Given the description of an element on the screen output the (x, y) to click on. 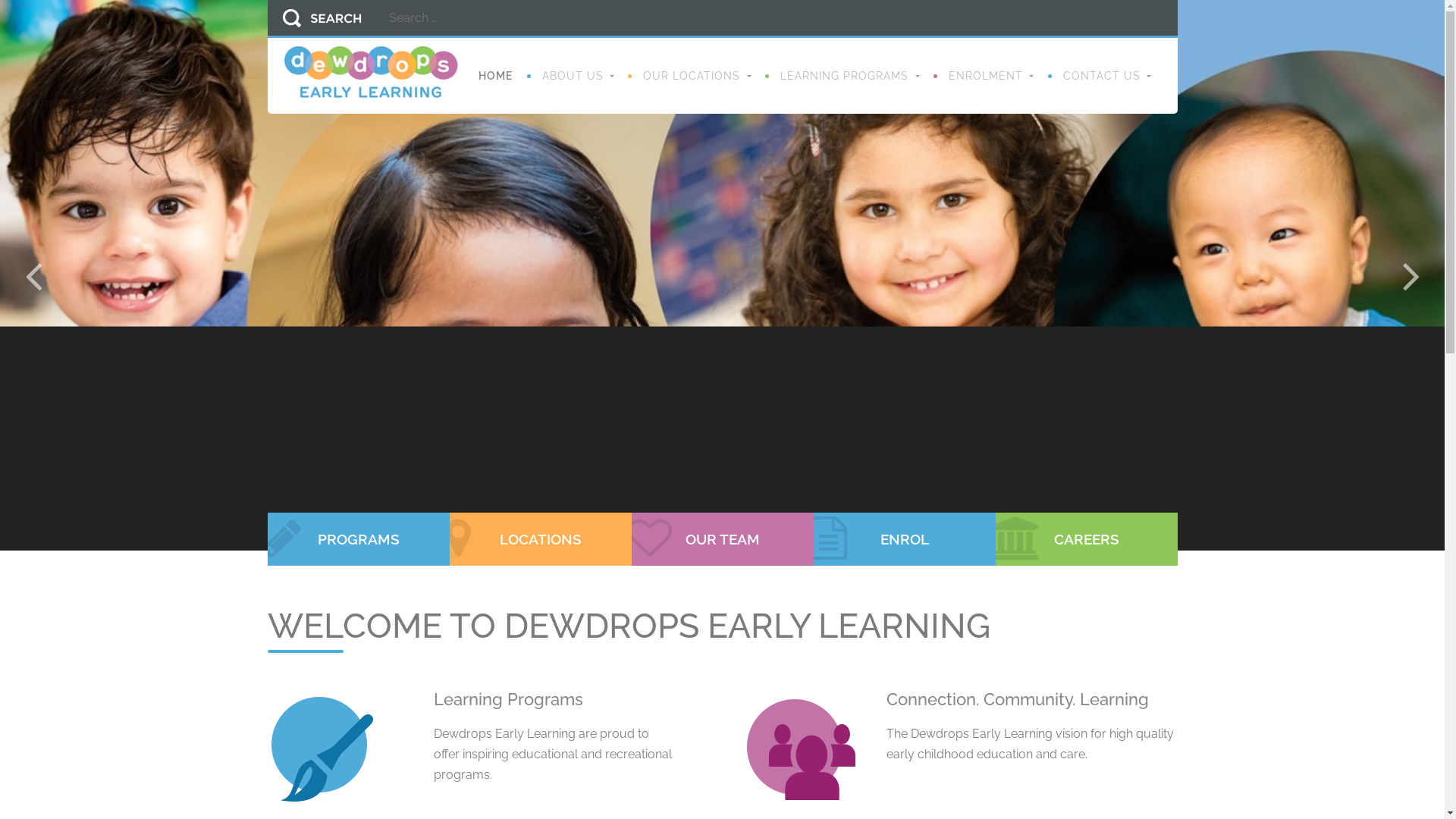
HOME Element type: text (495, 75)
CONTACT US Element type: text (1106, 75)
ENROLMENT Element type: text (990, 75)
Dewdrops Early Learning Element type: text (370, 71)
OUR TEAM Element type: text (721, 538)
LEARNING PROGRAMS Element type: text (849, 75)
LOCATIONS Element type: text (539, 538)
CAREERS Element type: text (1085, 538)
ABOUT US Element type: text (577, 75)
ENROL Element type: text (903, 538)
Connection. Community. Learning Element type: text (1017, 699)
PROGRAMS Element type: text (357, 538)
Learning Programs Element type: text (508, 699)
OUR LOCATIONS Element type: text (696, 75)
